Given the description of an element on the screen output the (x, y) to click on. 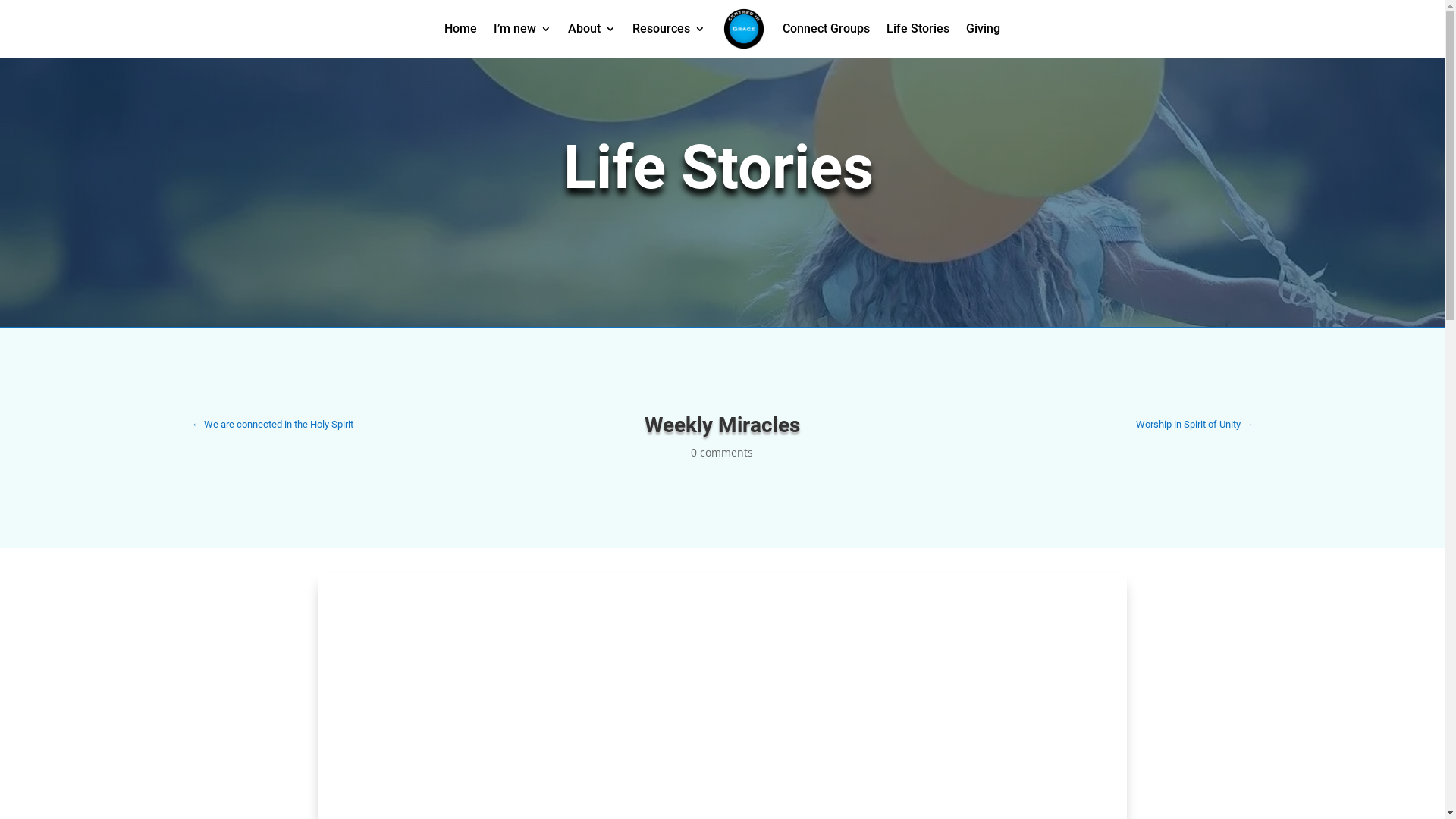
About Element type: text (591, 28)
Resources Element type: text (668, 28)
Life Stories Element type: text (917, 28)
Connect Groups Element type: text (825, 28)
Giving Element type: text (983, 28)
0 comments Element type: text (721, 452)
Home Element type: text (460, 28)
